Given the description of an element on the screen output the (x, y) to click on. 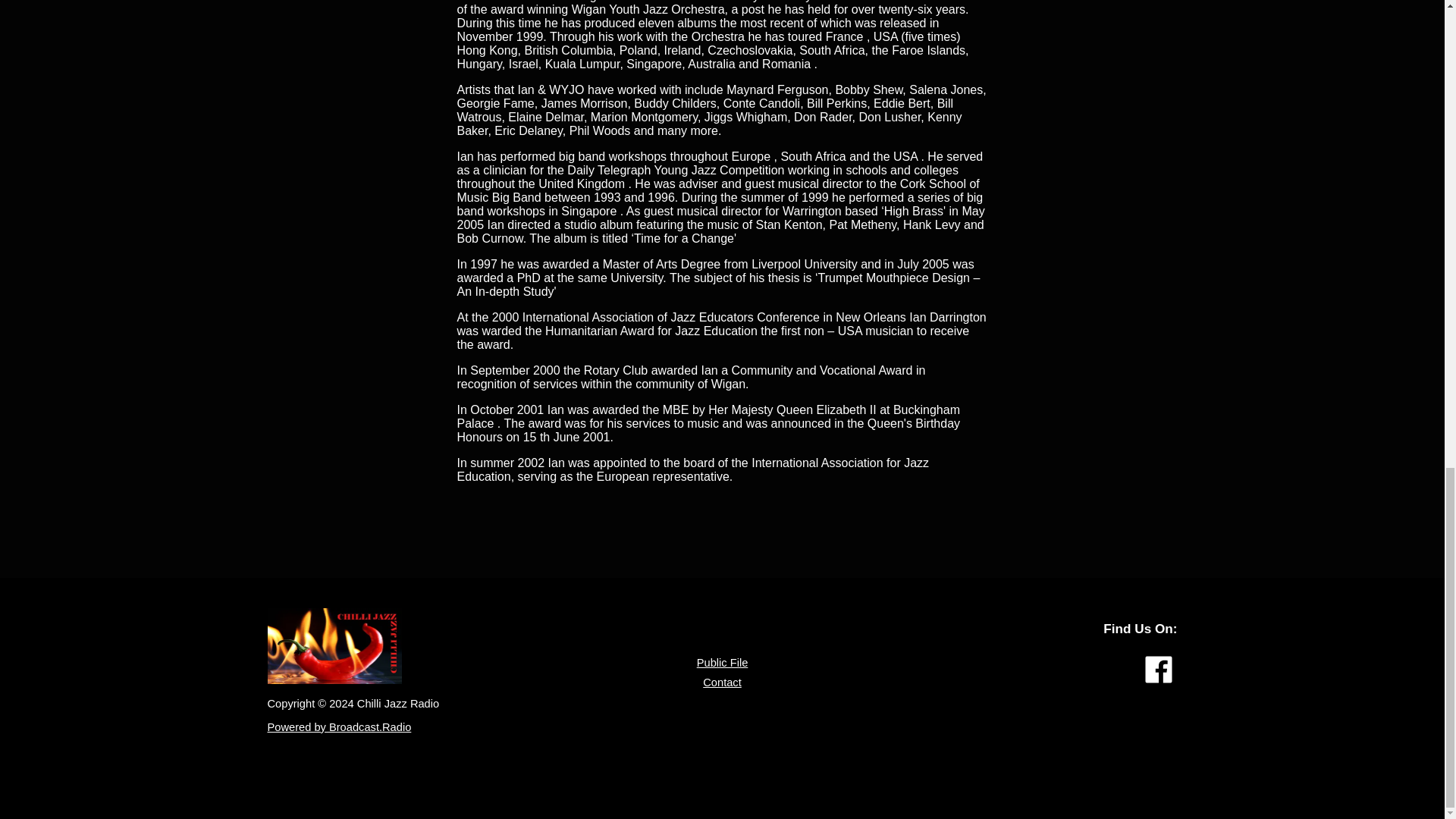
Contact (722, 682)
Powered by Broadcast.Radio (338, 726)
Public File (722, 662)
